Given the description of an element on the screen output the (x, y) to click on. 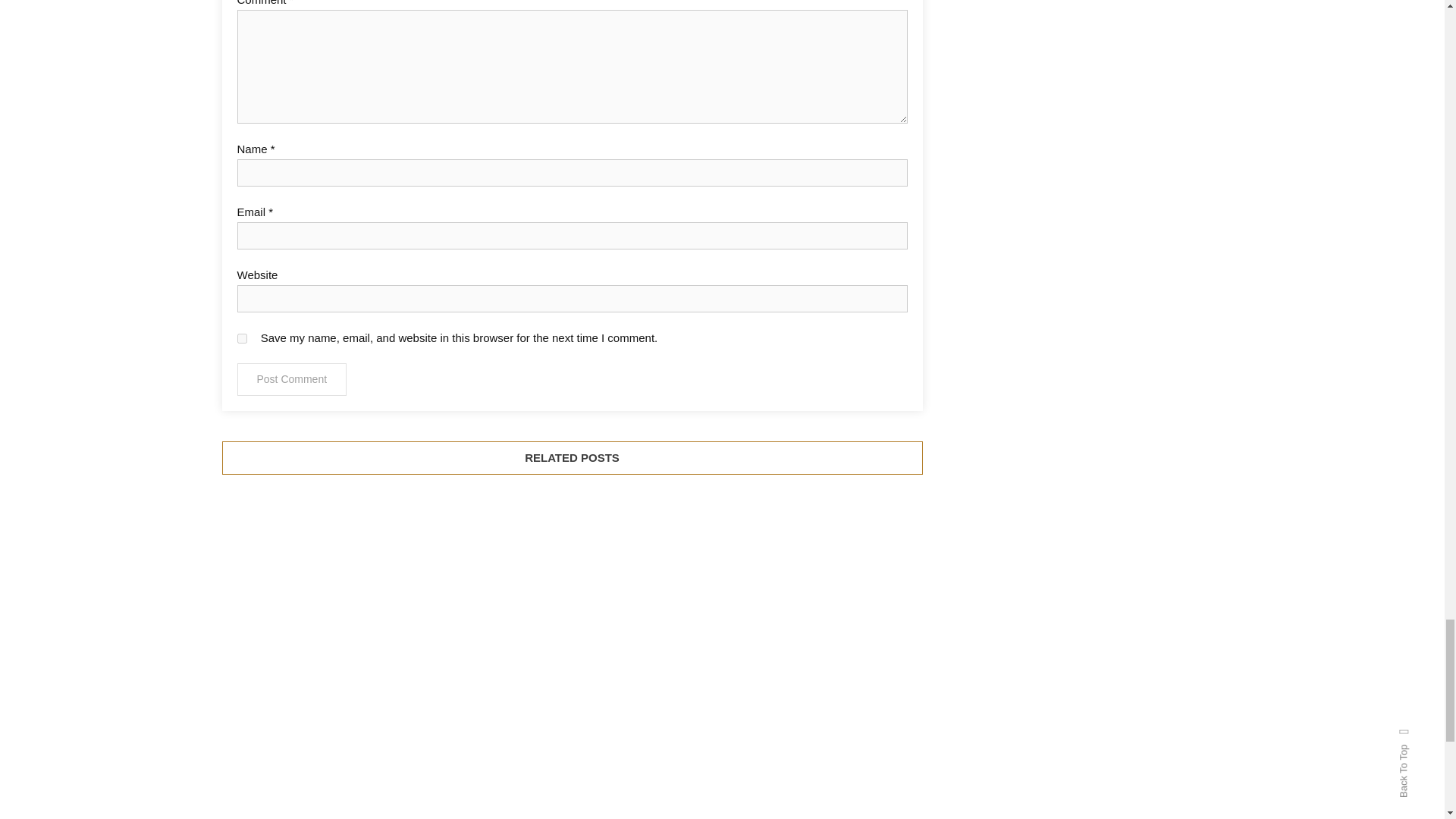
Post Comment (290, 379)
yes (240, 338)
